Given the description of an element on the screen output the (x, y) to click on. 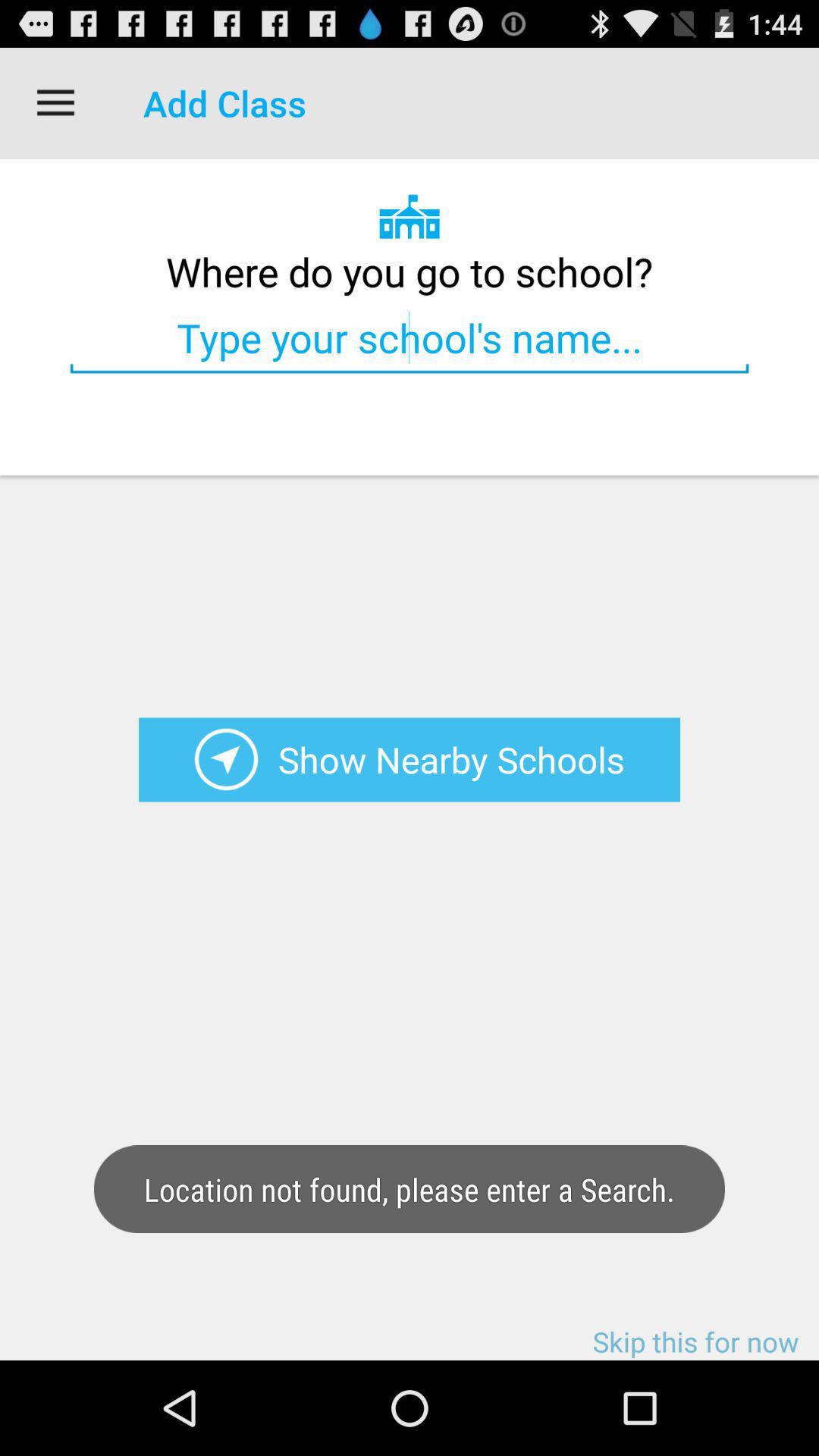
use my location (226, 759)
